Given the description of an element on the screen output the (x, y) to click on. 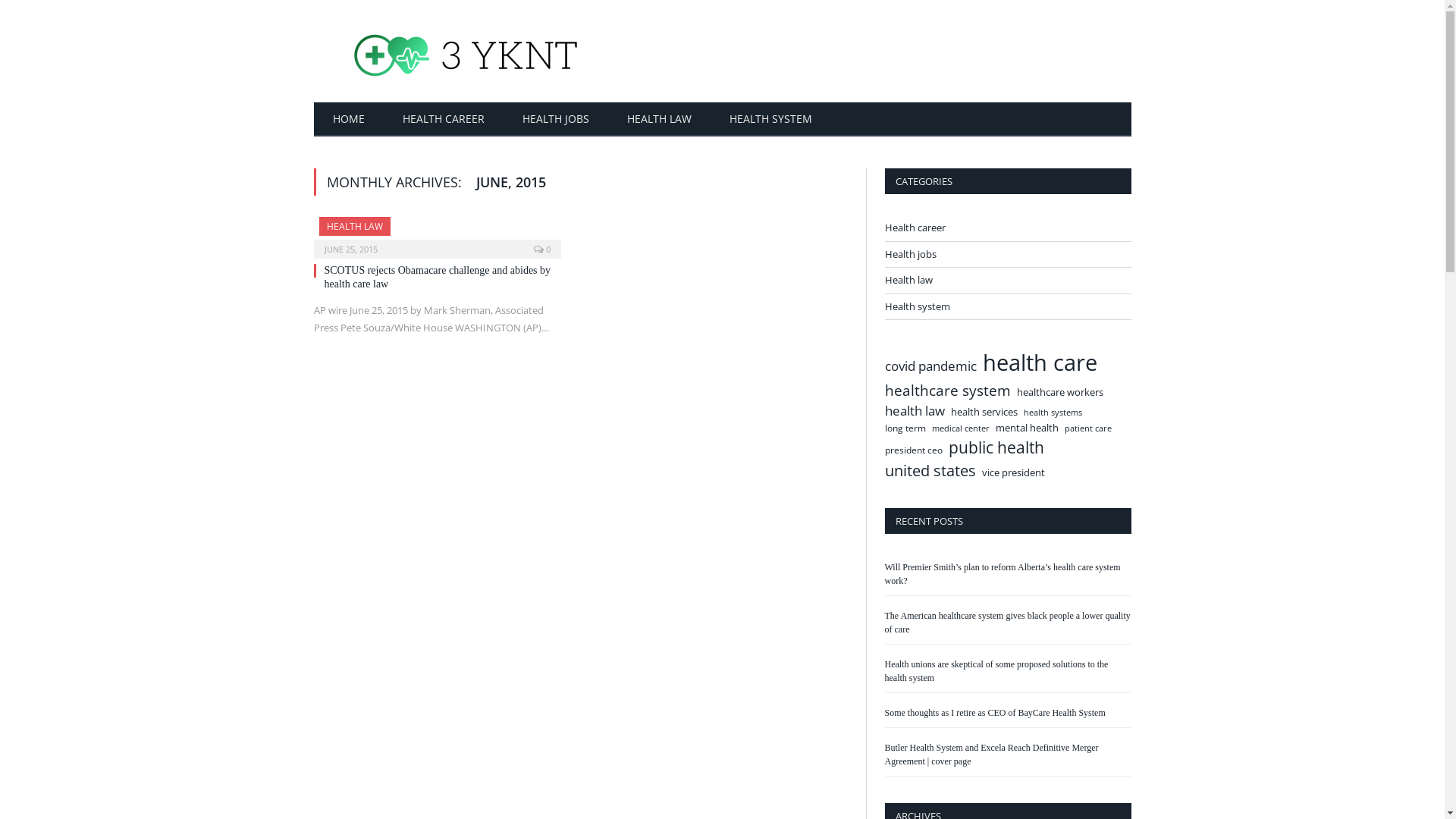
healthcare system Element type: text (947, 390)
Health jobs Element type: text (909, 254)
Some thoughts as I retire as CEO of BayCare Health System Element type: text (994, 712)
united states Element type: text (929, 470)
healthcare workers Element type: text (1059, 391)
medical center Element type: text (959, 428)
Health system Element type: text (916, 305)
health law Element type: text (914, 410)
health care Element type: text (1039, 362)
public health Element type: text (995, 447)
HEALTH SYSTEM Element type: text (769, 119)
HEALTH CAREER Element type: text (443, 119)
patient care Element type: text (1087, 427)
long term Element type: text (904, 428)
Health law Element type: text (907, 280)
mental health Element type: text (1025, 427)
HOME Element type: text (348, 119)
HEALTH LAW Element type: text (659, 119)
covid pandemic Element type: text (929, 366)
0 Element type: text (541, 248)
HEALTH JOBS Element type: text (555, 119)
Health career Element type: text (914, 227)
president ceo Element type: text (912, 450)
health services Element type: text (983, 411)
3 YKNT Element type: hover (465, 50)
HEALTH LAW Element type: text (354, 225)
health systems Element type: text (1052, 412)
vice president Element type: text (1012, 472)
